Given the description of an element on the screen output the (x, y) to click on. 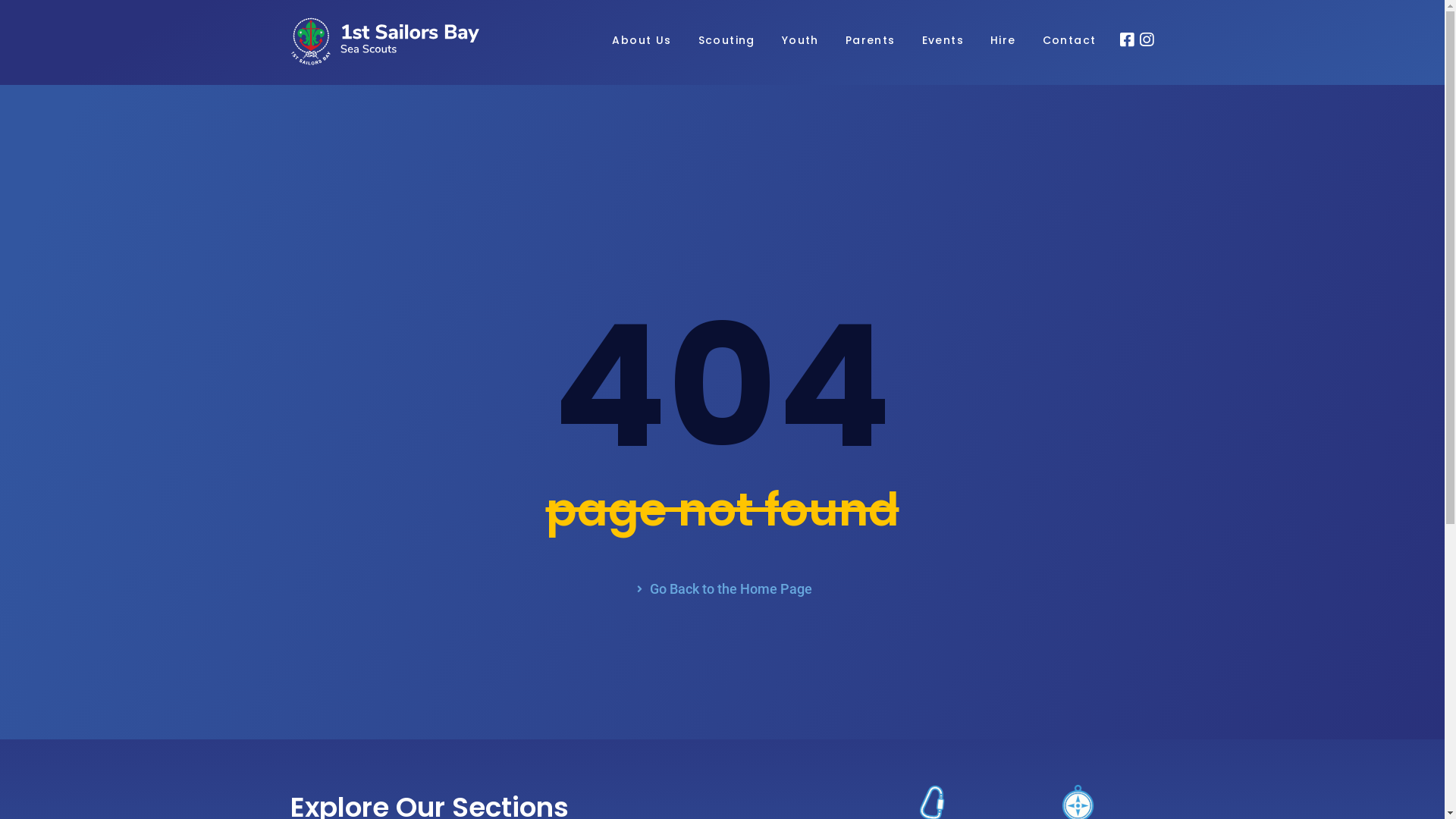
Events Element type: text (942, 41)
Parents Element type: text (870, 41)
Hire Element type: text (1003, 41)
Contact Element type: text (1069, 41)
About Us Element type: text (641, 41)
Go Back to the Home Page Element type: text (721, 588)
Youth Element type: text (800, 41)
Scouting Element type: text (726, 41)
